Given the description of an element on the screen output the (x, y) to click on. 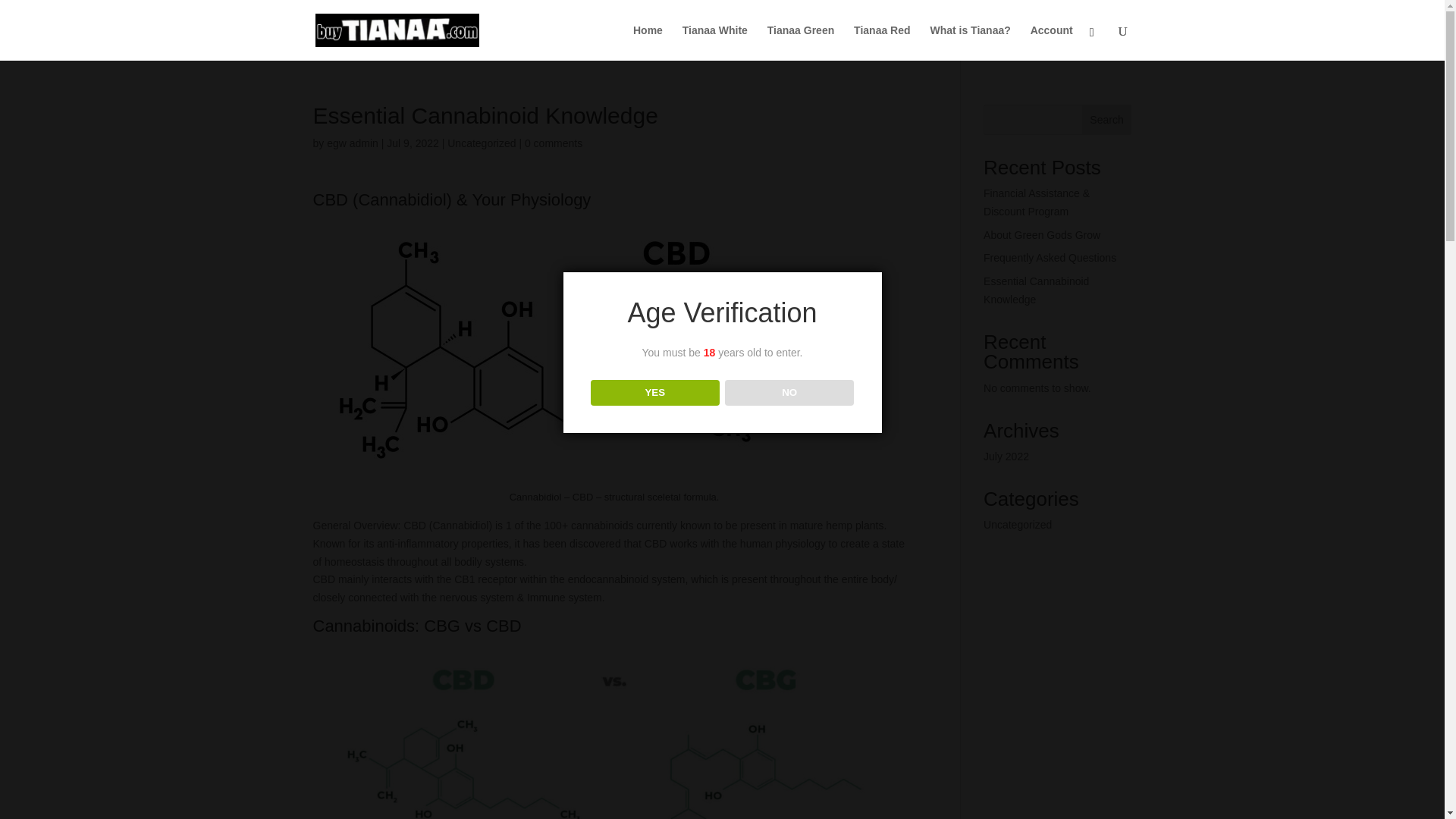
Search (1106, 119)
Tianaa Red (881, 42)
Account (1051, 42)
Uncategorized (1017, 524)
Tianaa Green (800, 42)
NO (789, 392)
Essential Cannabinoid Knowledge (1036, 290)
What is Tianaa? (970, 42)
About Green Gods Grow (1042, 234)
July 2022 (1006, 456)
YES (655, 392)
0 comments (553, 143)
Frequently Asked Questions (1050, 257)
Uncategorized (480, 143)
Posts by egw admin (352, 143)
